Given the description of an element on the screen output the (x, y) to click on. 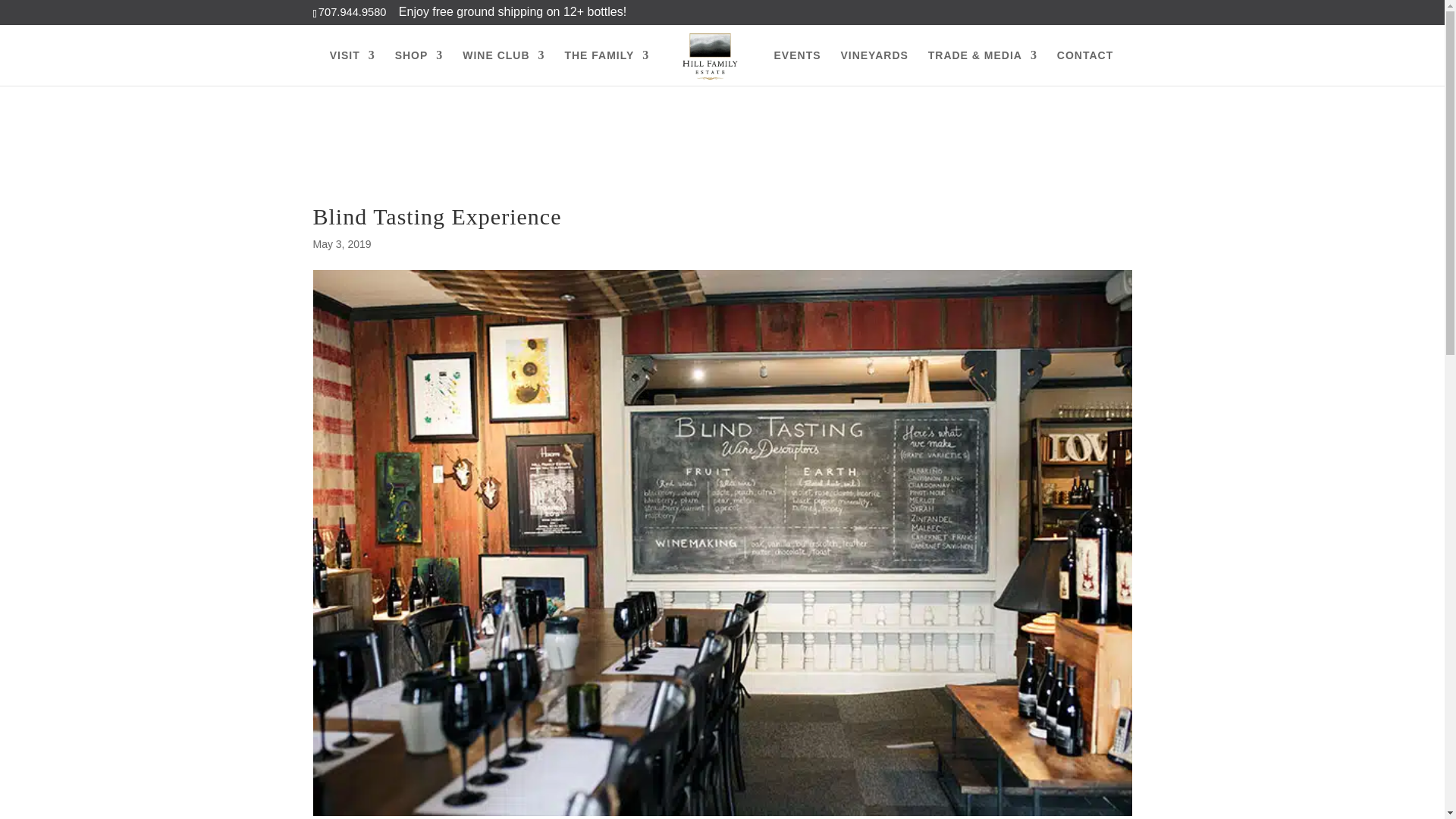
707.944.9580 (352, 11)
VINEYARDS (873, 67)
THE FAMILY (606, 67)
WINE CLUB (503, 67)
EVENTS (797, 67)
WINE CLUB (503, 67)
THE FAMILY (606, 67)
VISIT (352, 67)
CONTACT (1085, 67)
SHOP (419, 67)
